Given the description of an element on the screen output the (x, y) to click on. 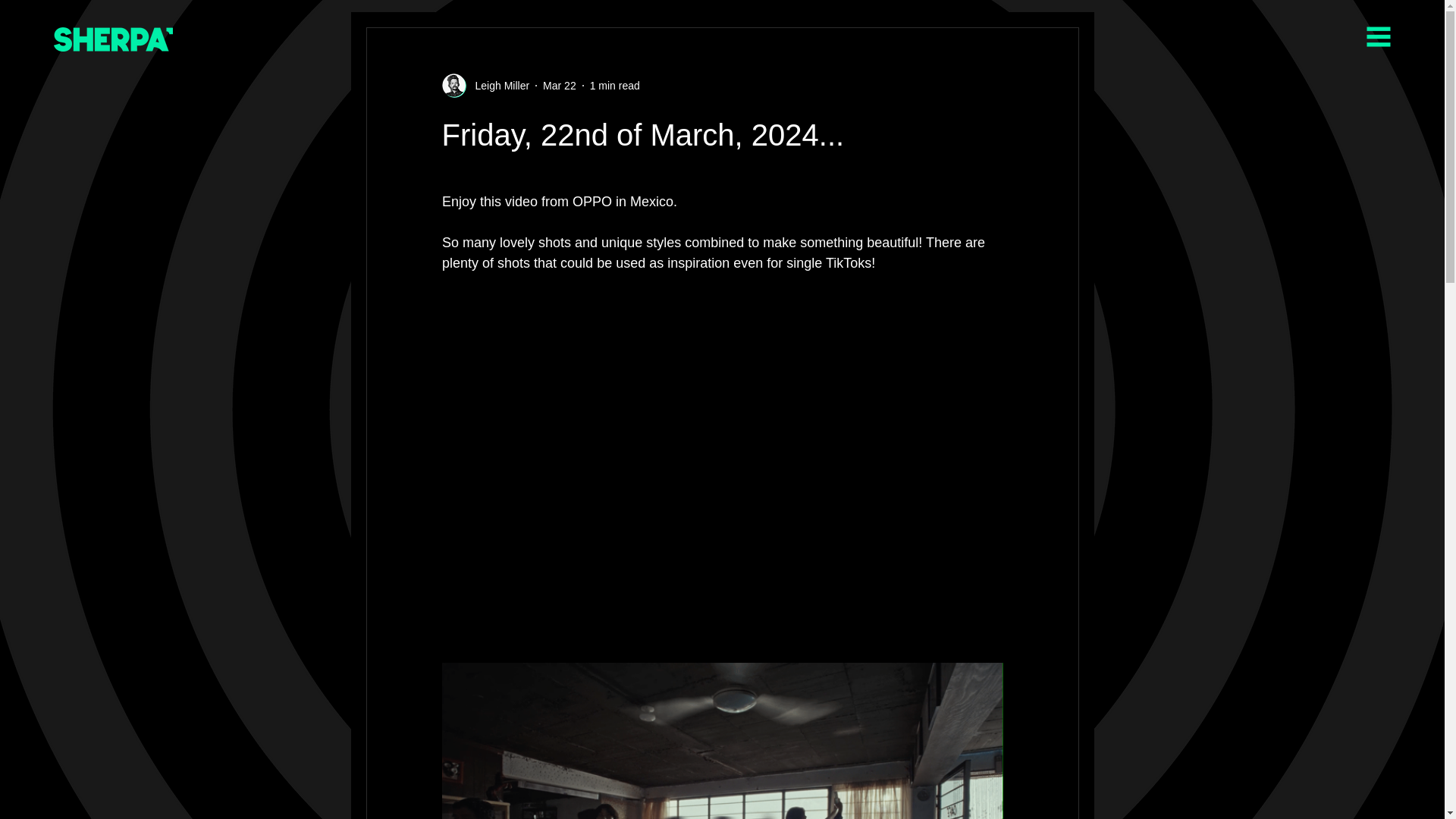
Mar 22 (559, 84)
Leigh Miller (497, 84)
1 min read (614, 84)
